Given the description of an element on the screen output the (x, y) to click on. 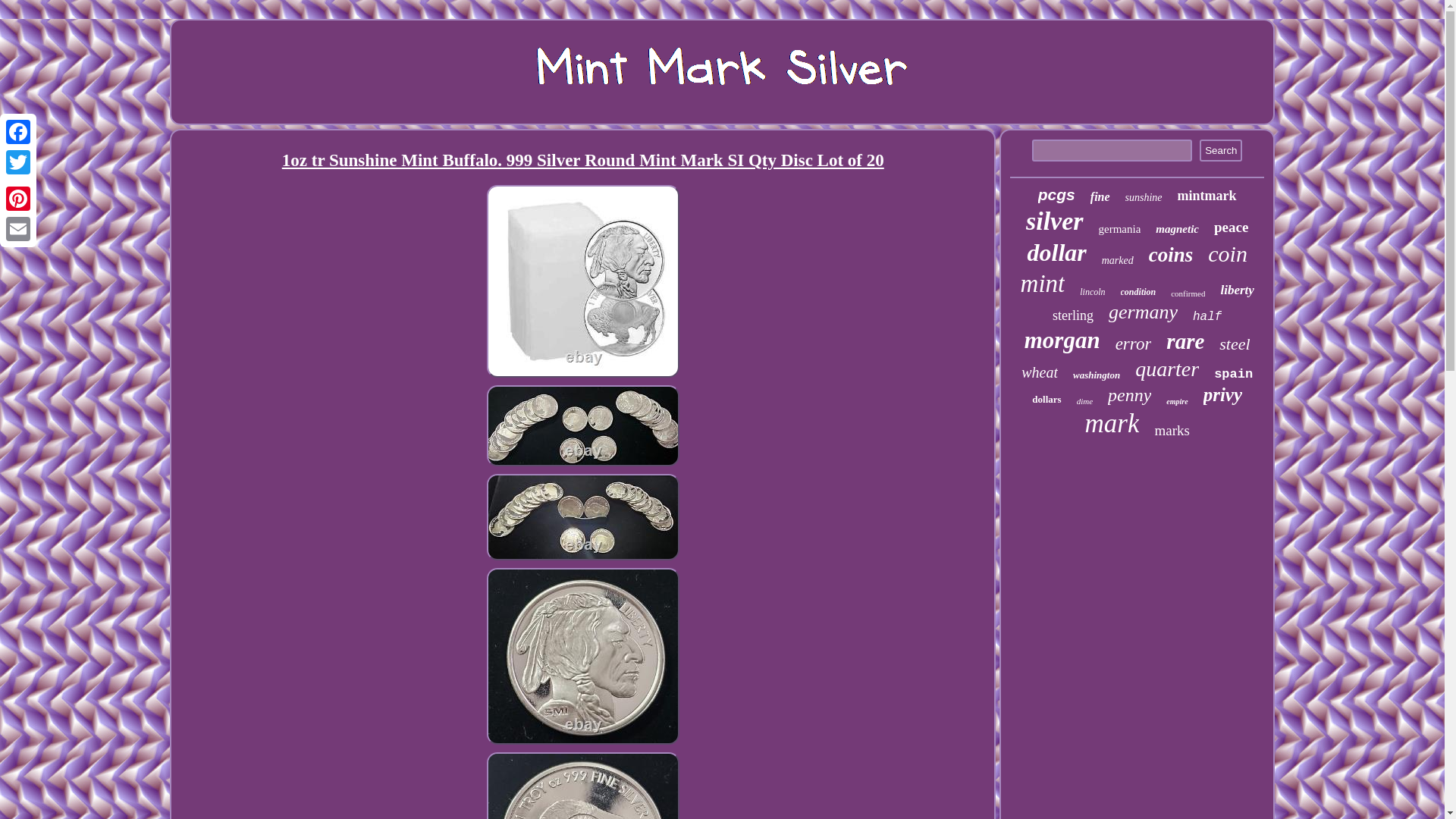
fine (1099, 196)
germania (1120, 228)
silver (1054, 221)
magnetic (1177, 228)
peace (1230, 227)
Email (17, 228)
pcgs (1056, 194)
mint (1042, 284)
mintmark (1206, 195)
Twitter (17, 162)
lincoln (1092, 292)
coin (1227, 253)
